Given the description of an element on the screen output the (x, y) to click on. 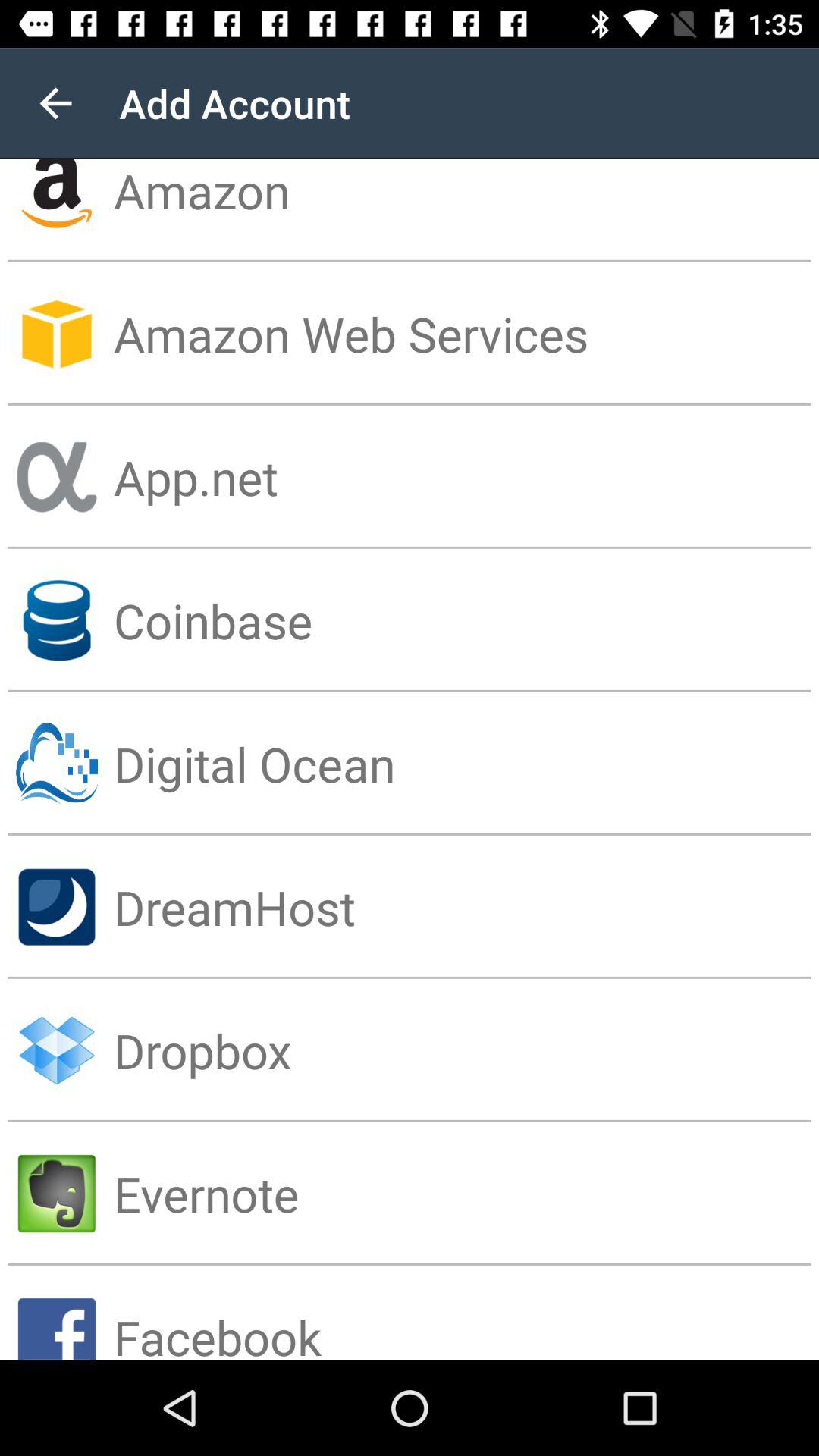
scroll to the dreamhost item (466, 906)
